Given the description of an element on the screen output the (x, y) to click on. 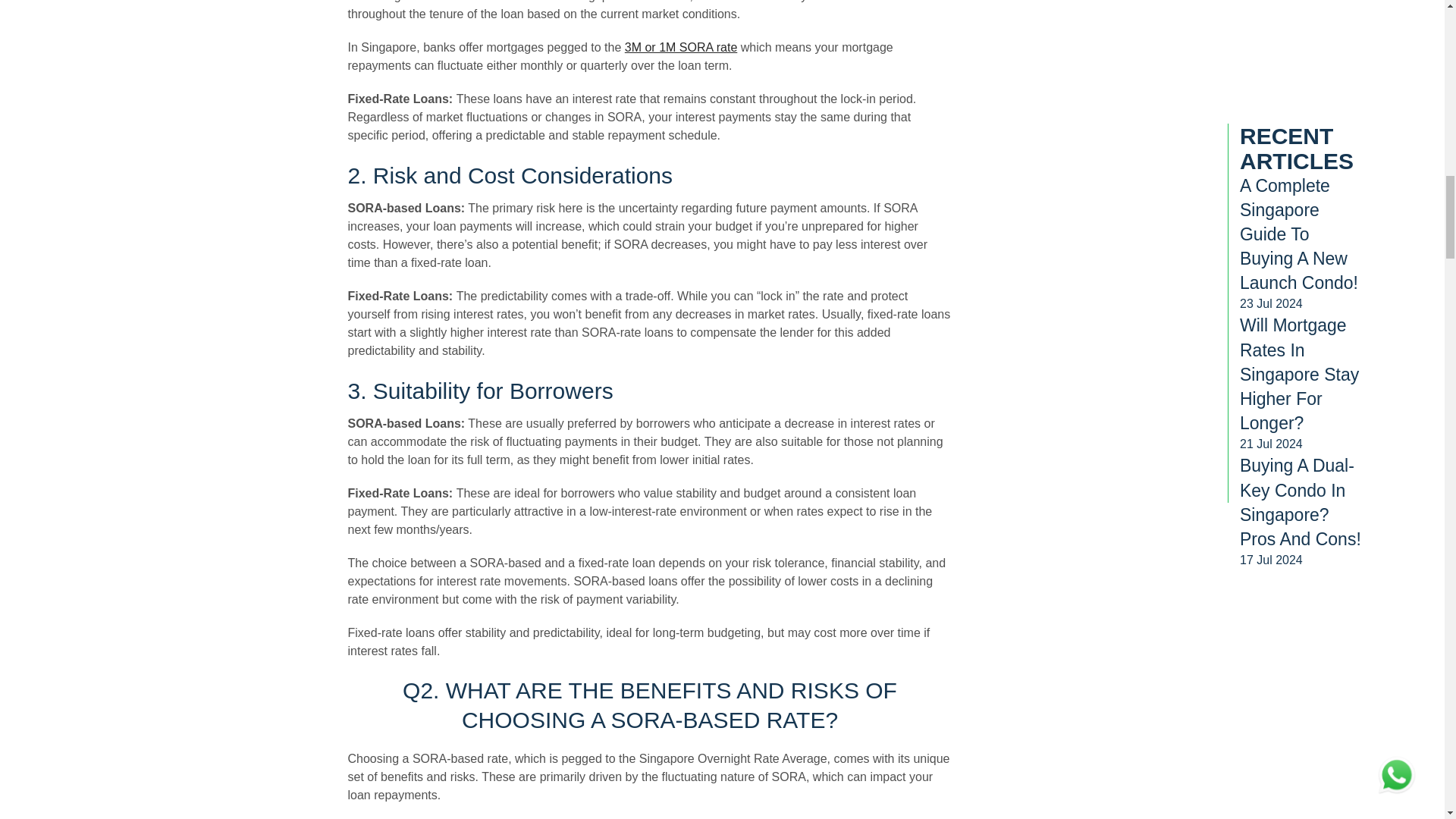
3M or 1M SORA rate (681, 47)
